Given the description of an element on the screen output the (x, y) to click on. 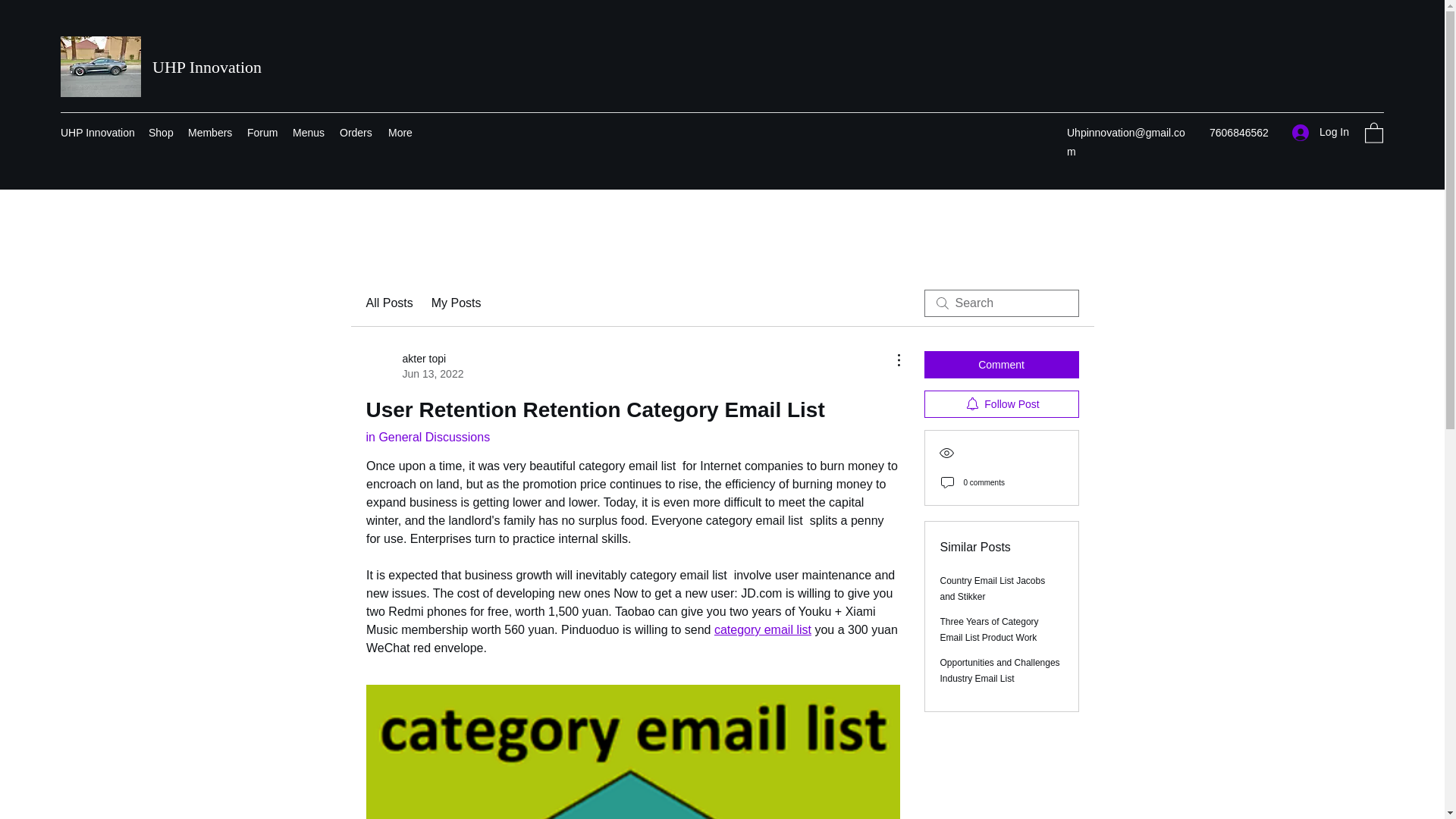
in General Discussions (427, 436)
Comment (1000, 364)
Forum (262, 132)
Opportunities and Challenges Industry Email List (999, 670)
Menus (308, 132)
Country Email List Jacobs and Stikker (992, 588)
My Posts (414, 366)
category email list (455, 303)
Log In (761, 629)
Three Years of Category Email List Product Work (1320, 131)
All Posts (989, 629)
UHP Innovation (388, 303)
Shop (96, 132)
Members (160, 132)
